Given the description of an element on the screen output the (x, y) to click on. 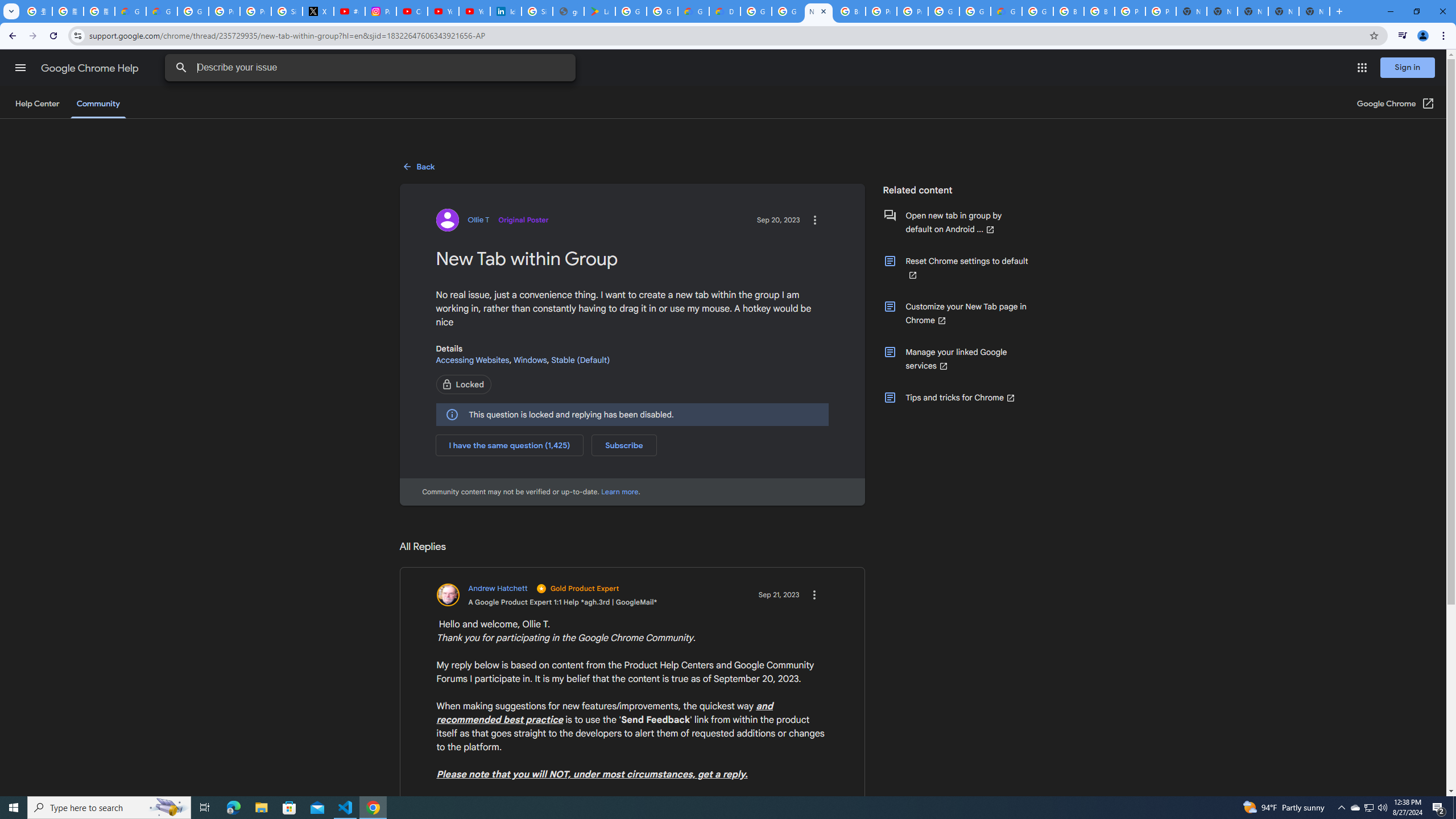
Community content may not be verified or up-to-date. (620, 491)
Manage your linked Google services (Opens in a new window) (955, 358)
Search Help Center (181, 67)
New Tab within Group - Google Chrome Community (818, 11)
Action items for the reply (813, 594)
Google Cloud Platform (974, 11)
